Given the description of an element on the screen output the (x, y) to click on. 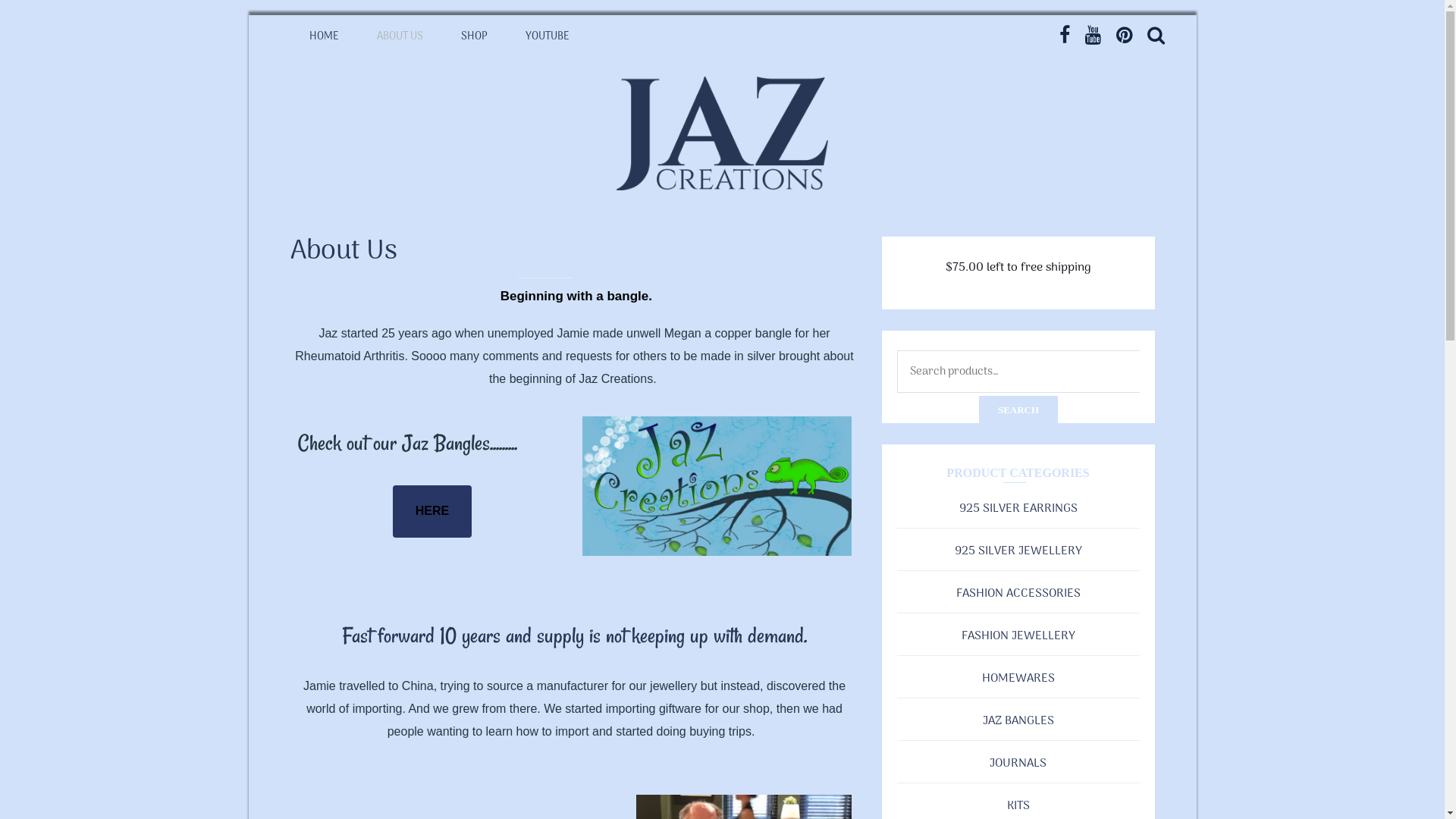
925 SILVER JEWELLERY Element type: text (1018, 551)
youtube Element type: hover (1092, 35)
HOME Element type: text (323, 36)
Jaz Creations Element type: text (325, 209)
YOUTUBE Element type: text (547, 36)
SHOP Element type: text (473, 36)
ABOUT US Element type: text (399, 36)
FASHION ACCESSORIES Element type: text (1018, 593)
KITS Element type: text (1018, 805)
facebook Element type: hover (1063, 35)
JAZ BANGLES Element type: text (1018, 721)
FASHION JEWELLERY Element type: text (1018, 636)
925 SILVER EARRINGS Element type: text (1018, 508)
pinterest Element type: hover (1124, 35)
JOURNALS Element type: text (1017, 763)
HOMEWARES Element type: text (1018, 678)
HERE Element type: text (431, 510)
SEARCH Element type: text (1018, 409)
